Given the description of an element on the screen output the (x, y) to click on. 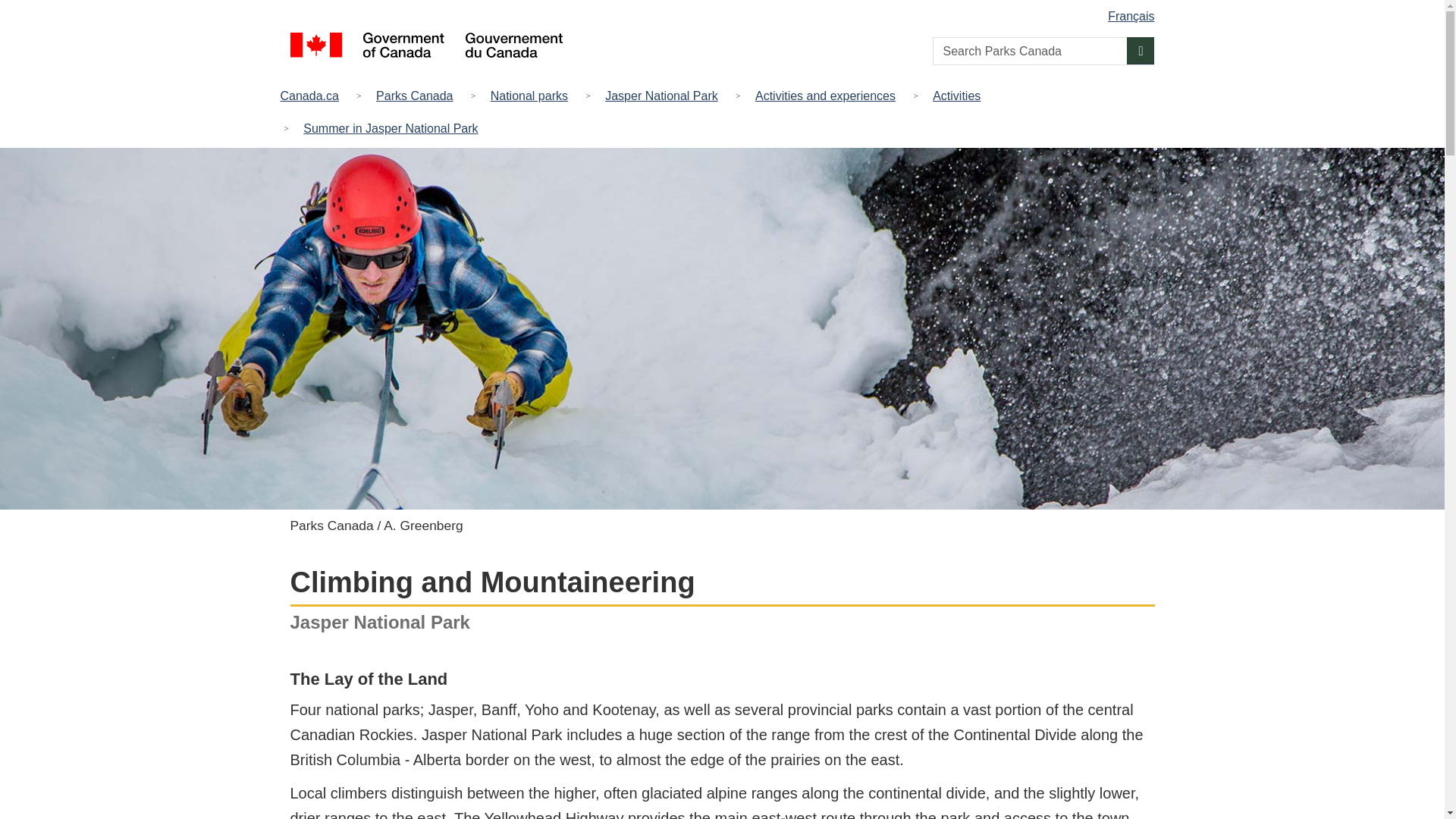
Parks Canada (414, 95)
Summer in Jasper National Park (389, 127)
Jasper National Park (660, 95)
Canada.ca (313, 95)
Activities and experiences (825, 95)
Search (1140, 50)
Activities (956, 95)
Skip to main content (725, 11)
National parks (529, 95)
